Given the description of an element on the screen output the (x, y) to click on. 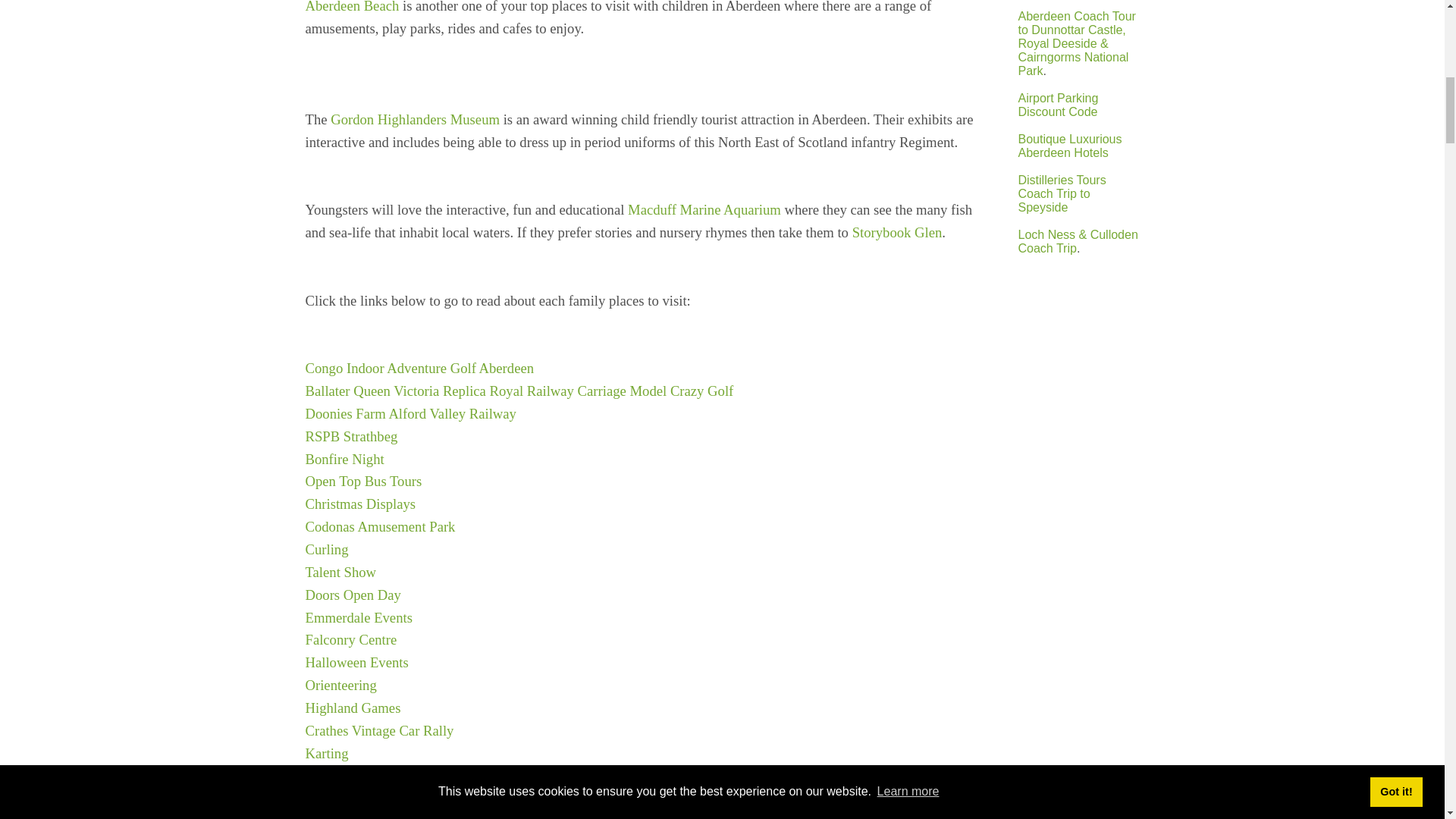
Macduff Marine Aquarium (703, 209)
Crazy Golf (701, 390)
Storybook Glen (896, 232)
Congo Indoor Adventure Golf Aberdeen (419, 367)
Gordon Highlanders Museum (414, 119)
Ballater Queen Victoria Replica Royal Railway Carriage Model (485, 390)
Alford Valley Railway (452, 413)
Doonies Farm (344, 413)
Aberdeen Beach (351, 6)
RSPB Strathbeg (350, 436)
